Given the description of an element on the screen output the (x, y) to click on. 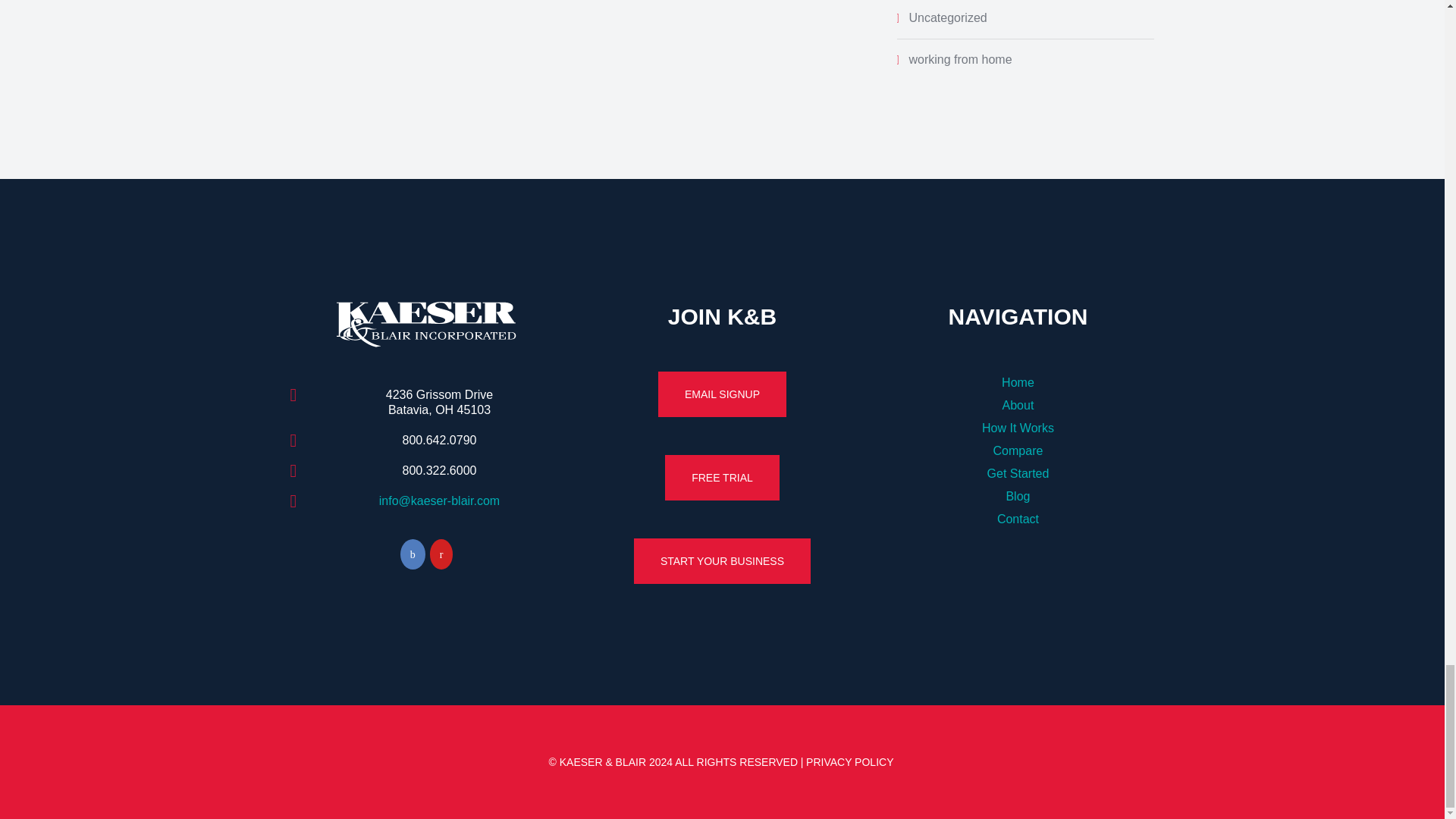
Email Signup (722, 393)
Free Trial (721, 477)
Start Your Business (721, 560)
